Given the description of an element on the screen output the (x, y) to click on. 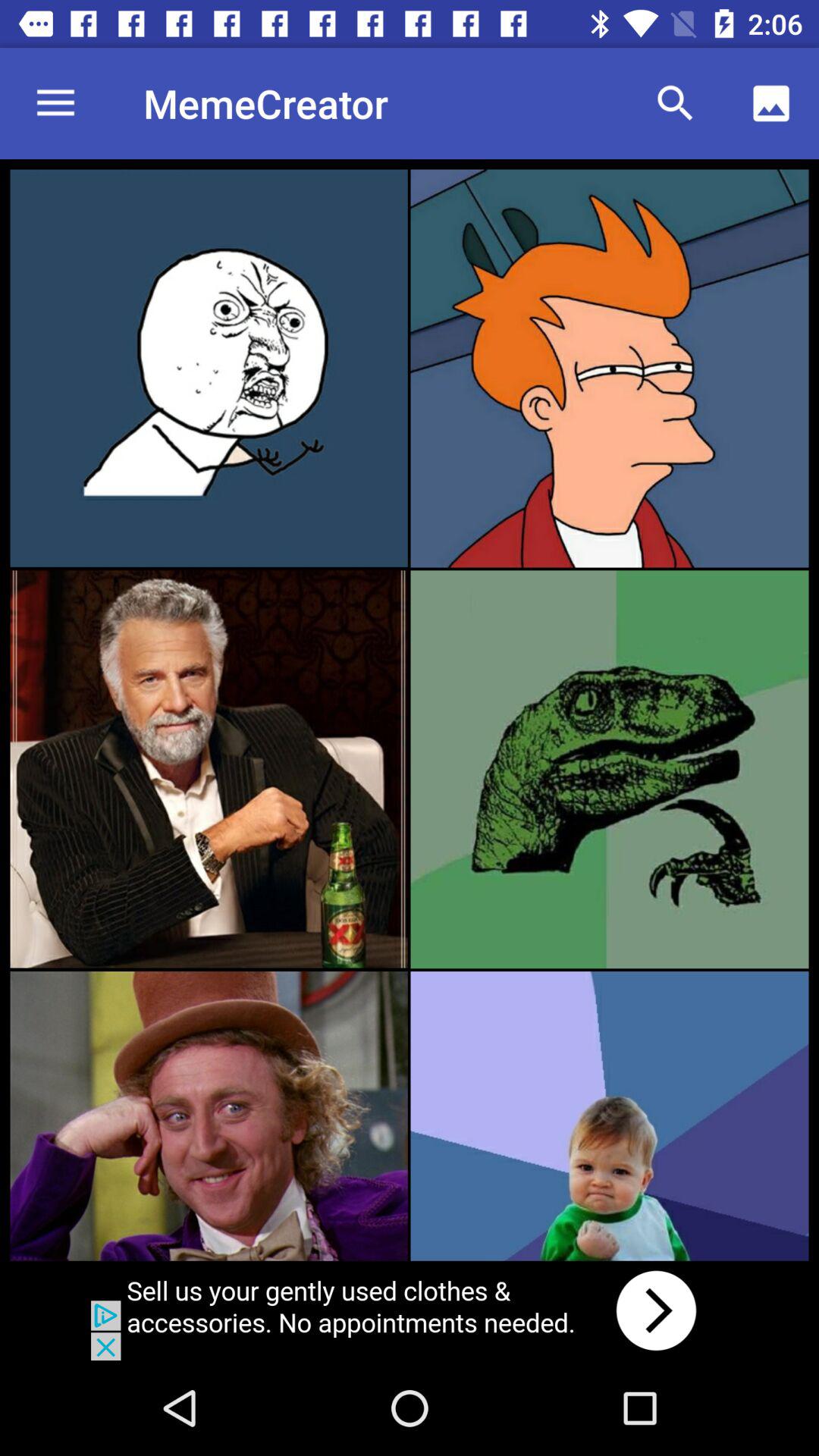
select image (208, 368)
